Given the description of an element on the screen output the (x, y) to click on. 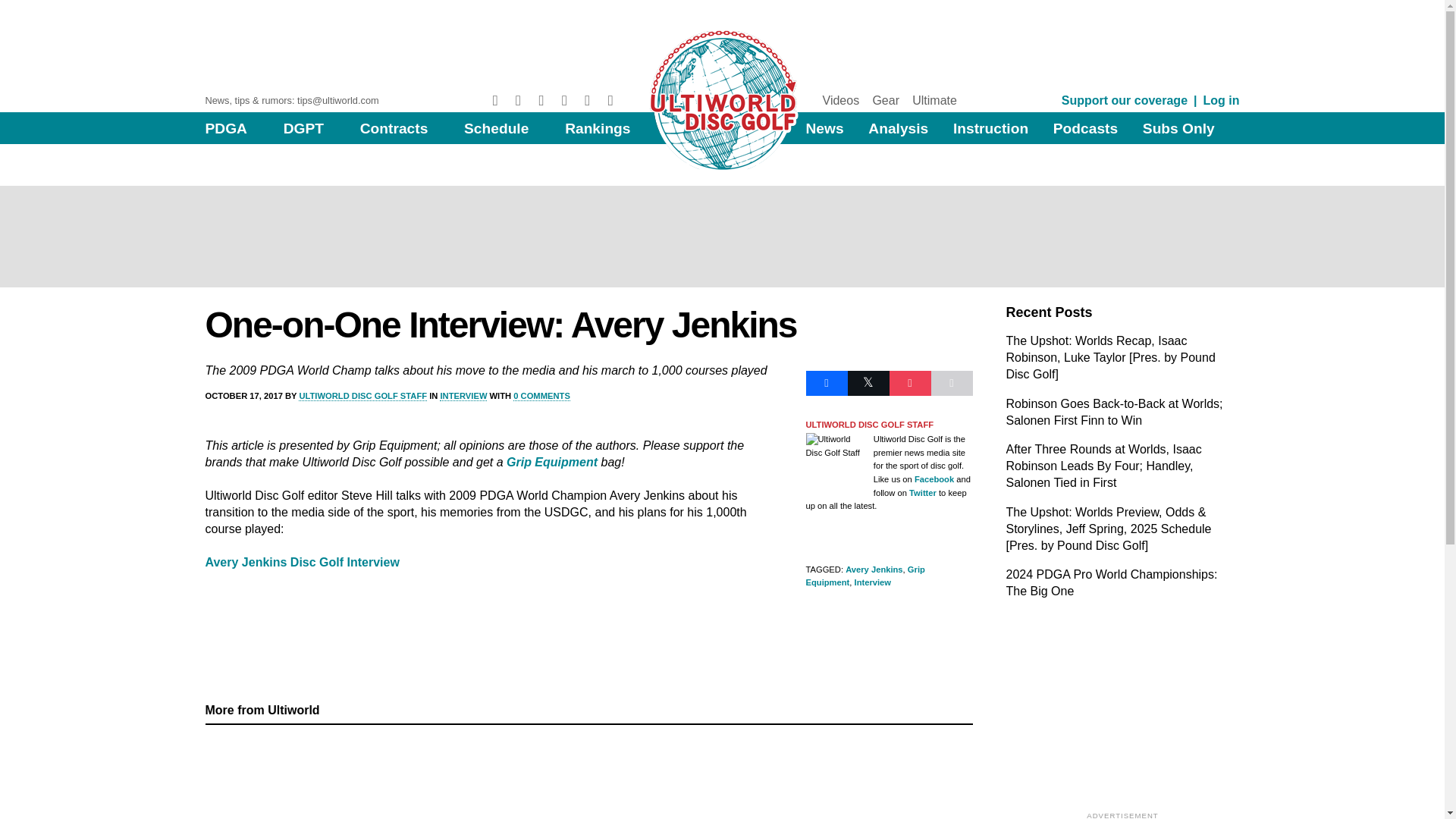
News (824, 128)
View all posts by Ultiworld Disc Golf Staff (362, 396)
Support our coverage (1124, 100)
Subs Only (1178, 128)
Podcasts (1085, 128)
Contracts (393, 128)
Analysis (897, 128)
Ultimate (934, 100)
Log in (1222, 100)
Rankings (597, 128)
